Given the description of an element on the screen output the (x, y) to click on. 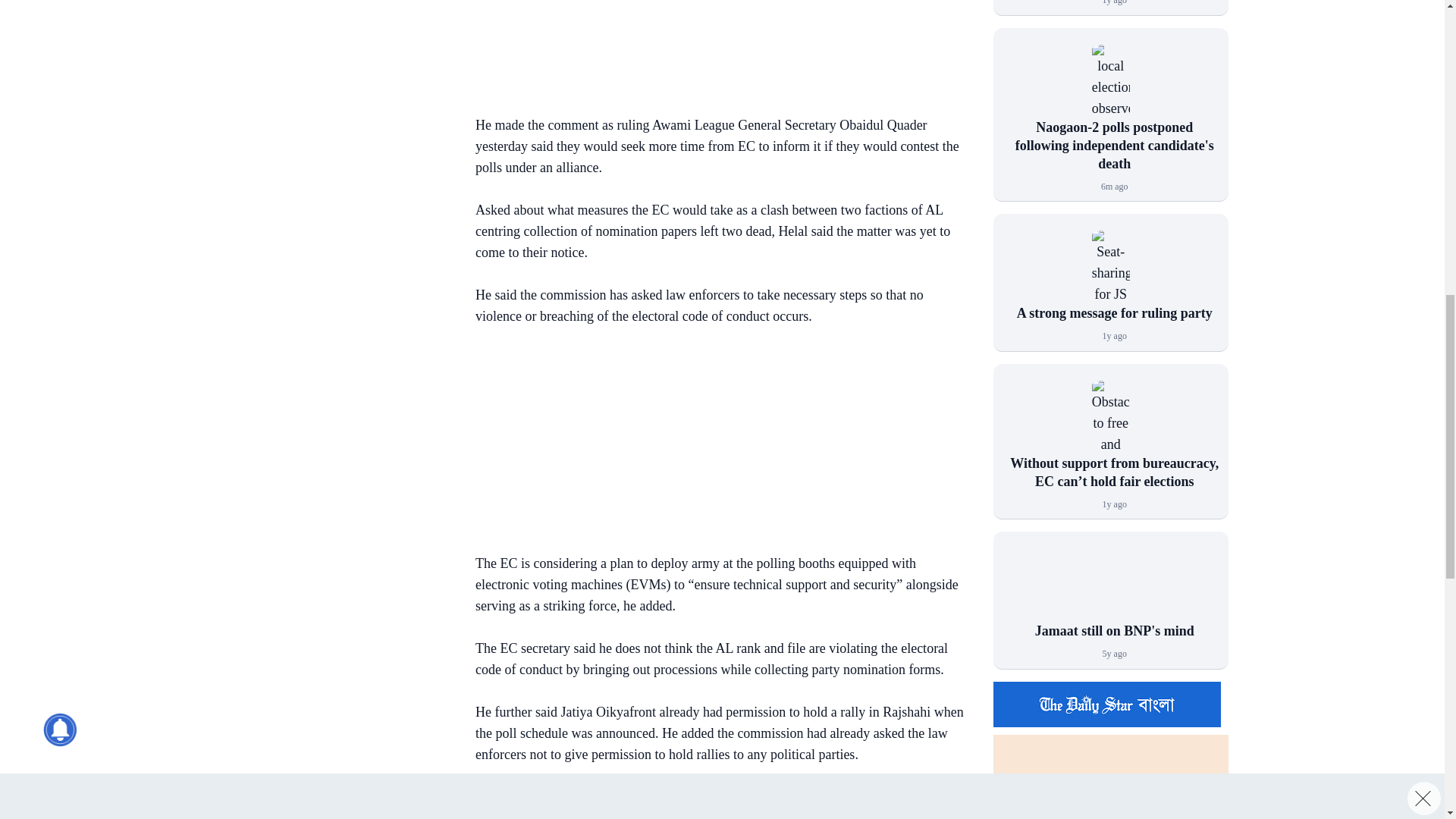
3rd party ad content (332, 24)
3rd party ad content (713, 49)
3rd party ad content (713, 442)
3rd party ad content (332, 159)
